Given the description of an element on the screen output the (x, y) to click on. 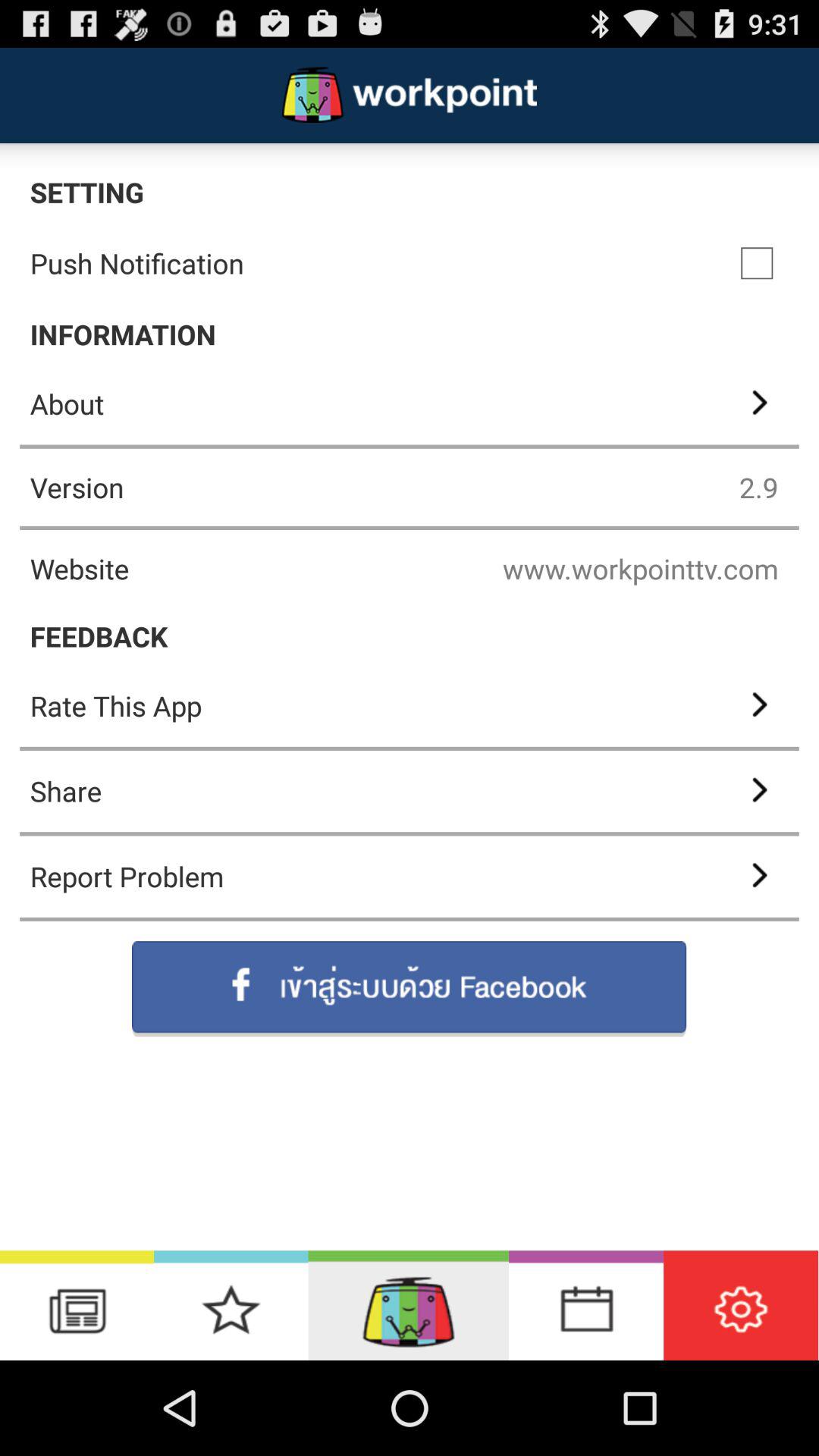
view application home screen (408, 1305)
